Given the description of an element on the screen output the (x, y) to click on. 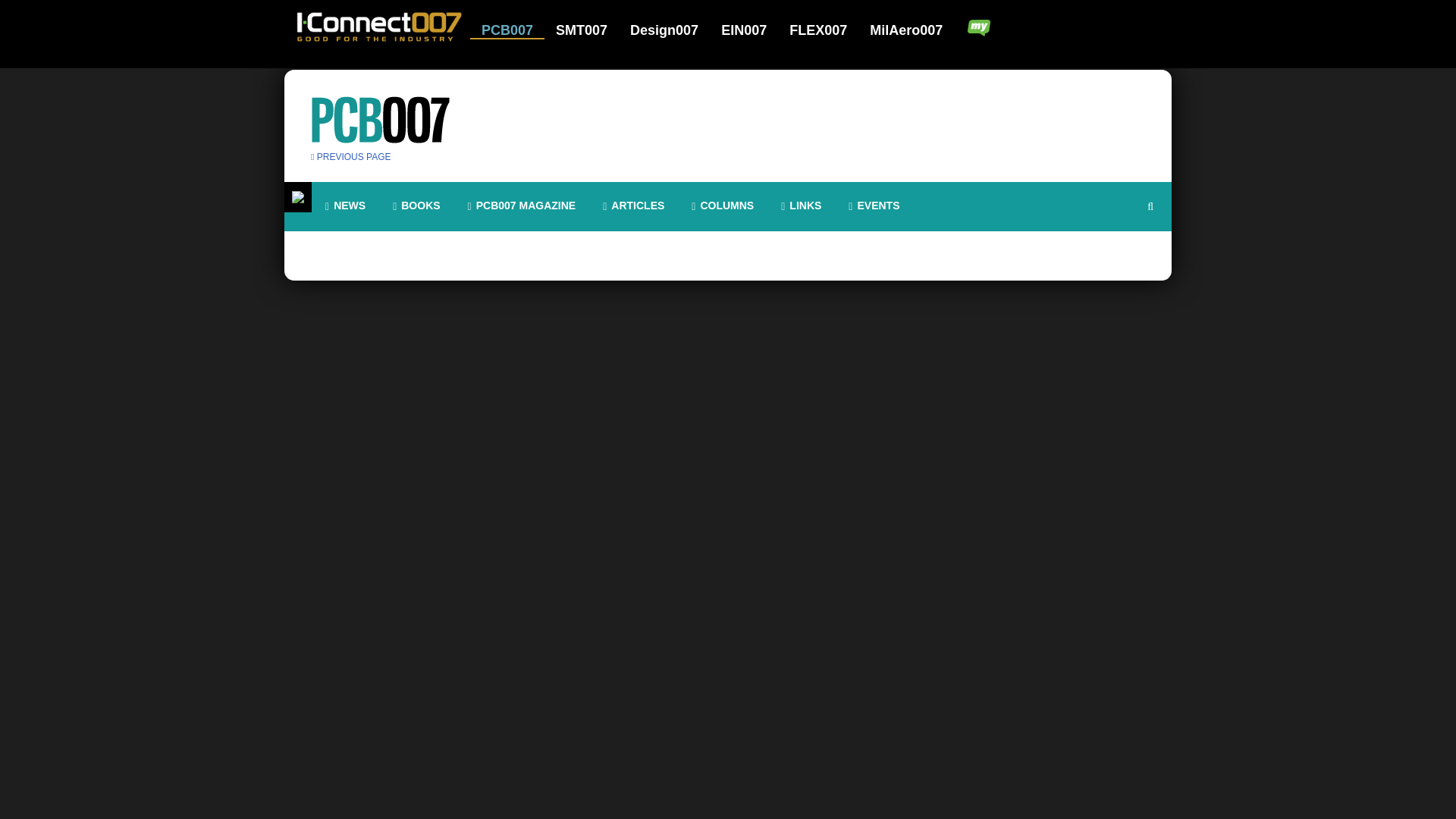
PREVIOUS PAGE (351, 156)
SMT007 (590, 30)
EIN007 (753, 30)
FLEX007 (827, 30)
PCB007 MAGAZINE (521, 205)
MilAero007 (907, 30)
NEWS (344, 205)
Design007 (673, 30)
PCB007 (516, 30)
BOOKS (415, 205)
